Given the description of an element on the screen output the (x, y) to click on. 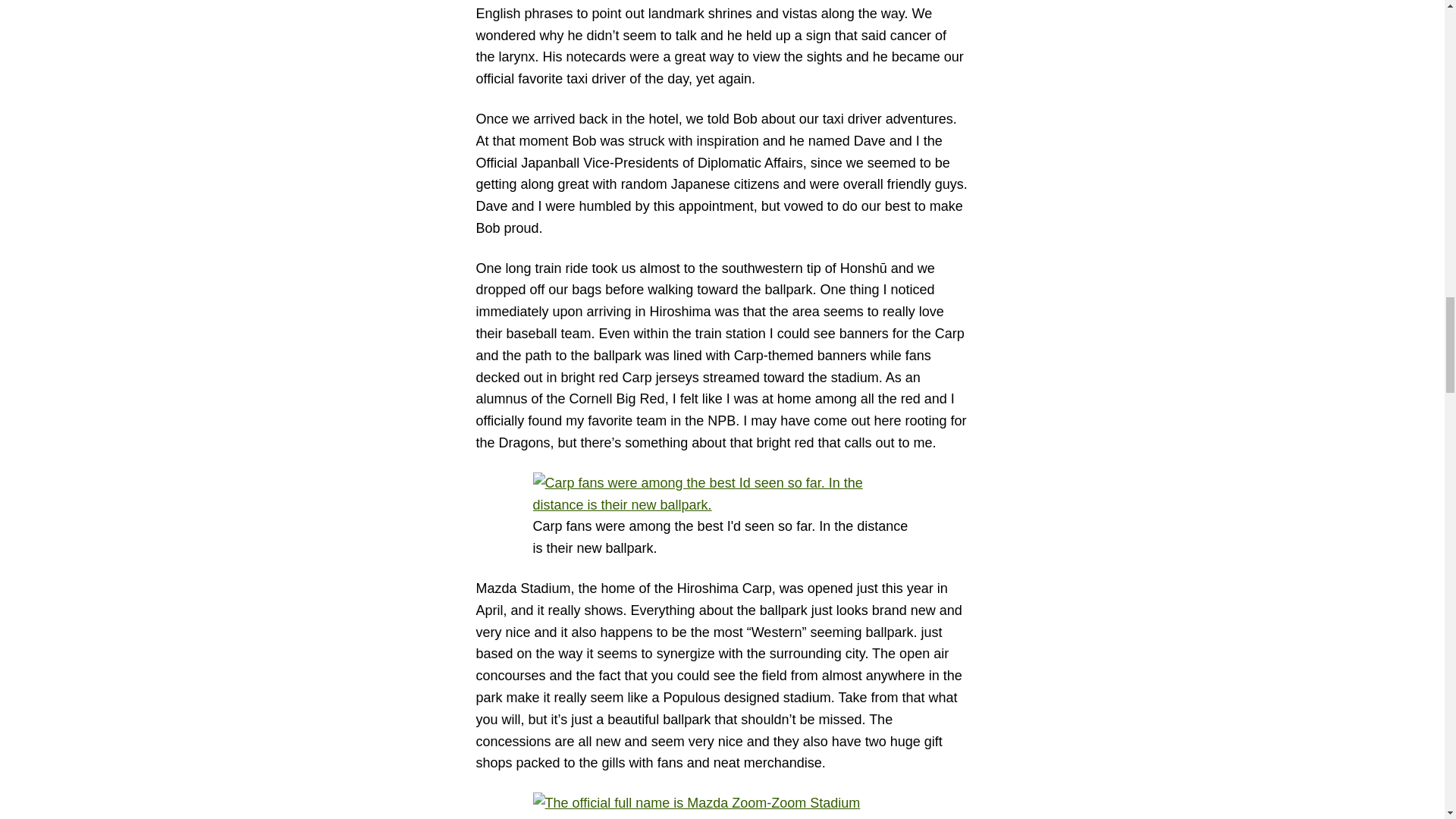
Mazda Stadium (721, 805)
Fans to the ballpark (721, 494)
